Given the description of an element on the screen output the (x, y) to click on. 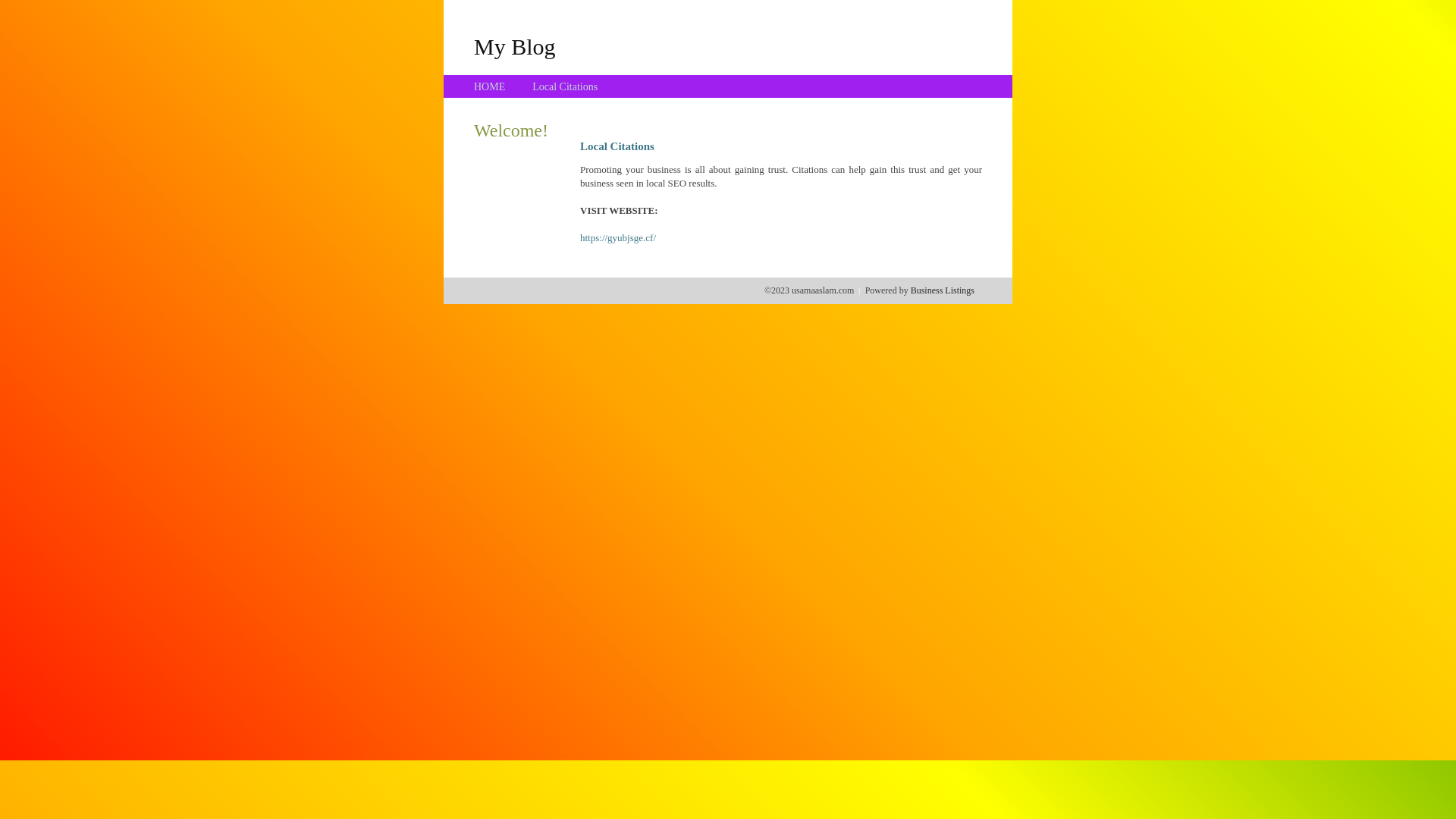
Local Citations Element type: text (564, 86)
My Blog Element type: text (514, 46)
HOME Element type: text (489, 86)
https://gyubjsge.cf/ Element type: text (617, 237)
Business Listings Element type: text (942, 290)
